Given the description of an element on the screen output the (x, y) to click on. 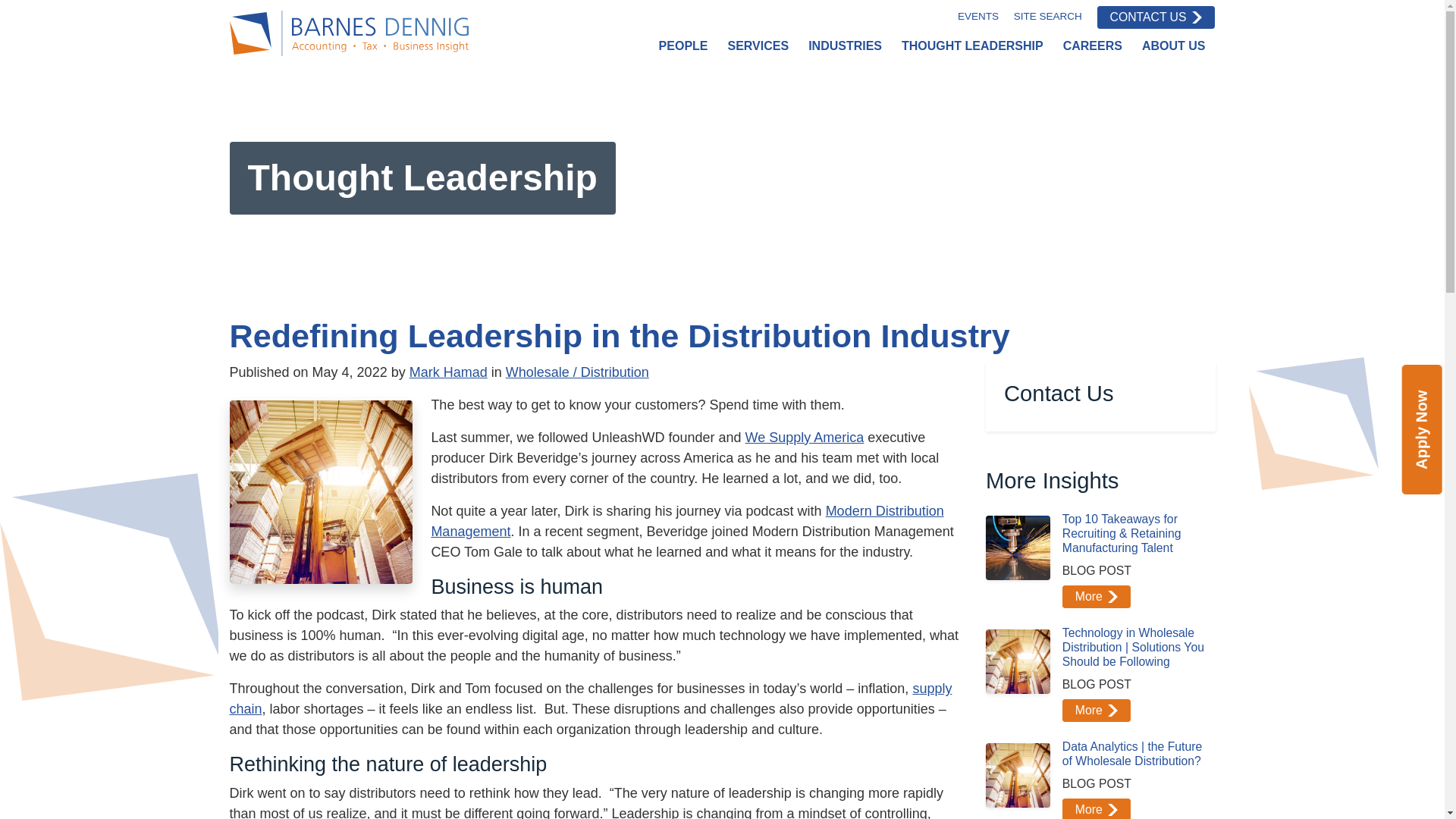
CONTACT US (1155, 16)
SITE SEARCH (1047, 16)
SERVICES (757, 46)
EVENTS (978, 16)
PEOPLE (683, 46)
